Given the description of an element on the screen output the (x, y) to click on. 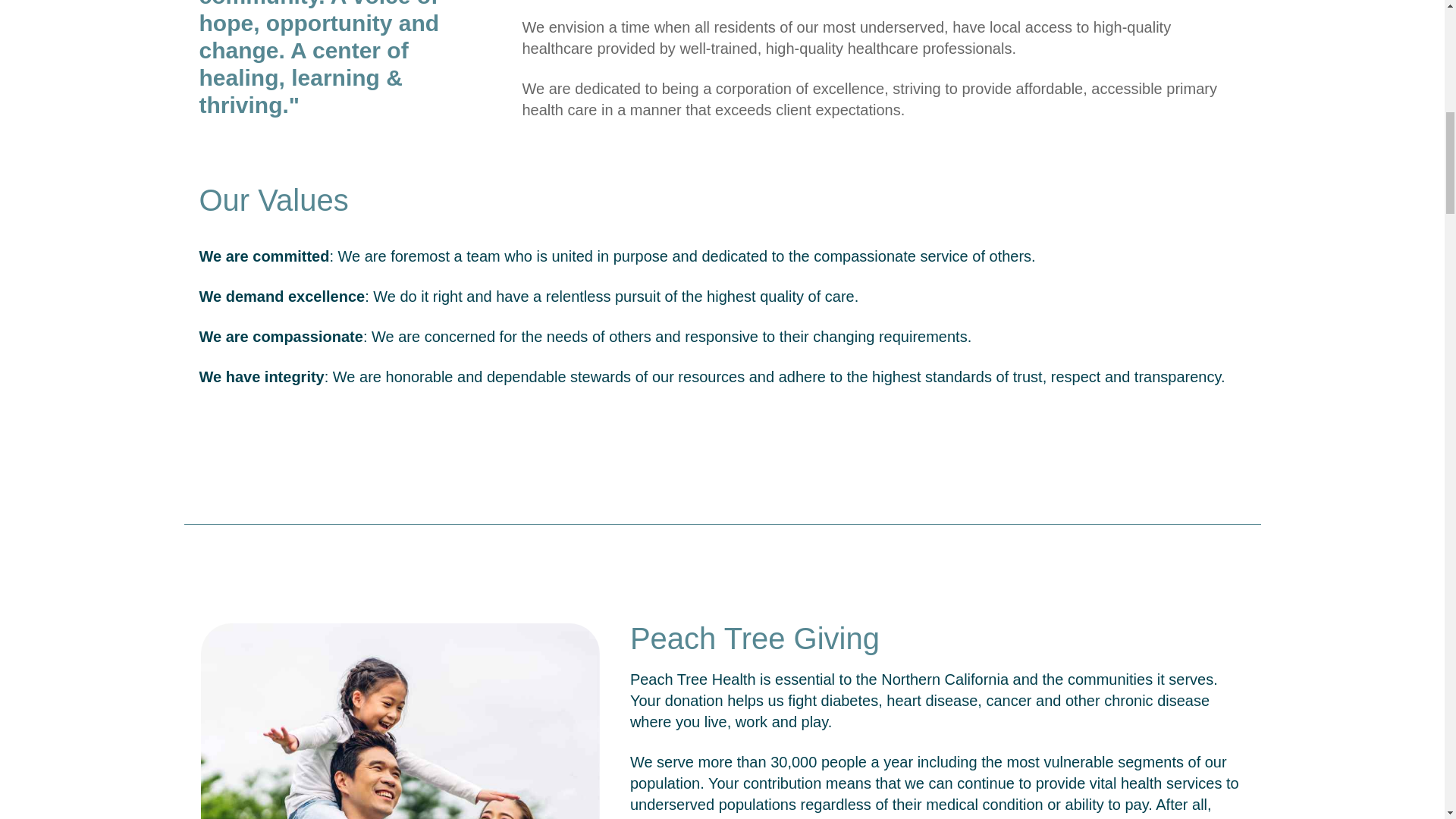
Family playing outside (399, 721)
